Given the description of an element on the screen output the (x, y) to click on. 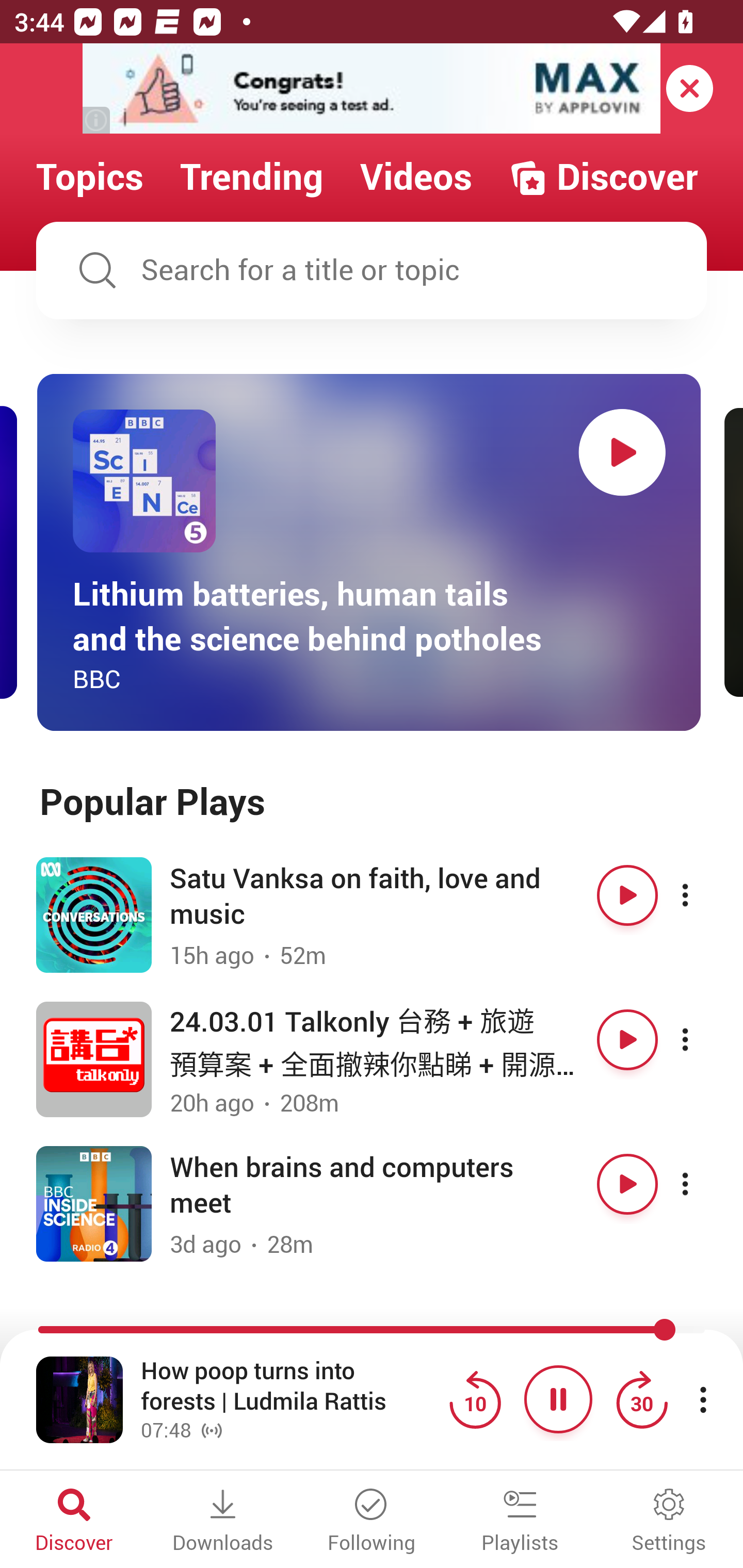
app-monetization (371, 88)
(i) (96, 119)
Topics (90, 177)
Trending (251, 177)
Videos (415, 177)
Discover (603, 177)
Search for a title or topic (371, 270)
Play button (621, 452)
Play button (627, 895)
More options (703, 895)
Play button (627, 1039)
More options (703, 1039)
Play button (627, 1184)
More options (703, 1184)
Recommended for You (371, 1331)
Open fullscreen player (79, 1399)
More player controls (703, 1399)
How poop turns into forests | Ludmila Rattis (290, 1385)
Pause button (558, 1398)
Jump back (475, 1399)
Jump forward (641, 1399)
Discover (74, 1521)
Downloads (222, 1521)
Following (371, 1521)
Playlists (519, 1521)
Settings (668, 1521)
